Given the description of an element on the screen output the (x, y) to click on. 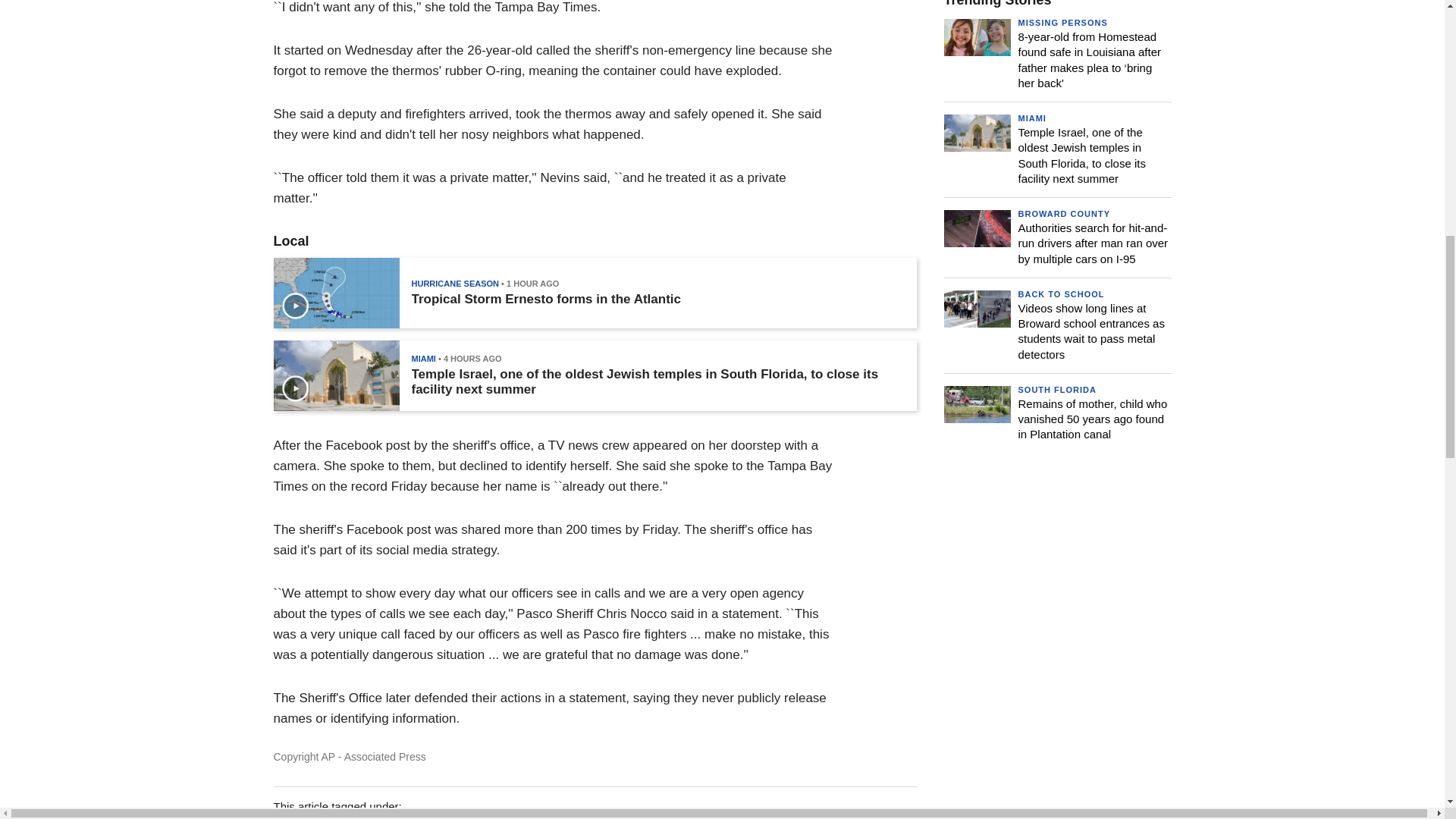
Tropical Storm Ernesto forms in the Atlantic (544, 299)
MIAMI (422, 358)
HURRICANE SEASON (454, 283)
